Given the description of an element on the screen output the (x, y) to click on. 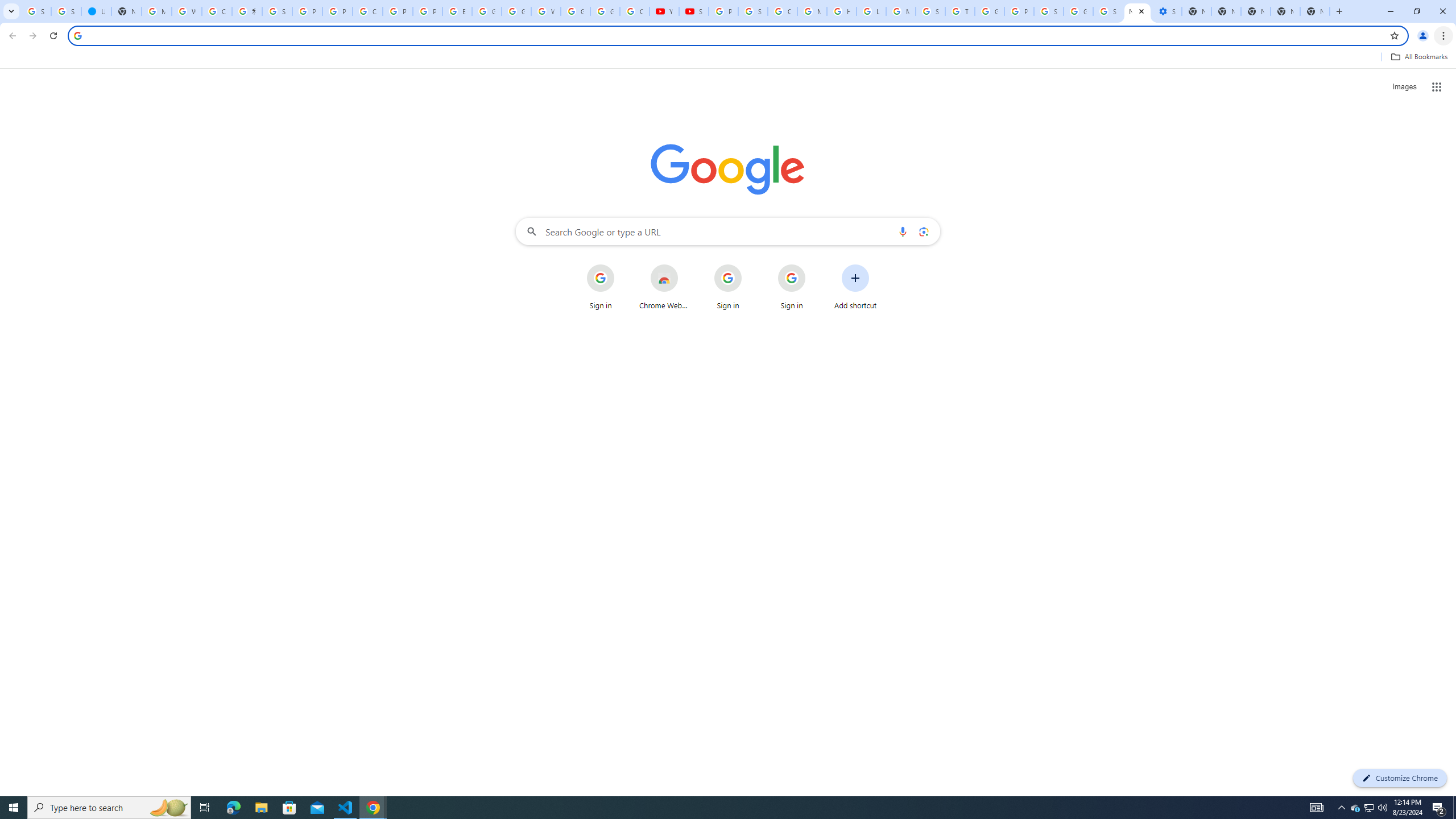
Sign in - Google Accounts (65, 11)
Subscriptions - YouTube (693, 11)
Trusted Information and Content - Google Safety Center (959, 11)
New Tab (1314, 11)
Create your Google Account (367, 11)
Add shortcut (855, 287)
Google Ads - Sign in (989, 11)
Sign in - Google Accounts (1048, 11)
